Given the description of an element on the screen output the (x, y) to click on. 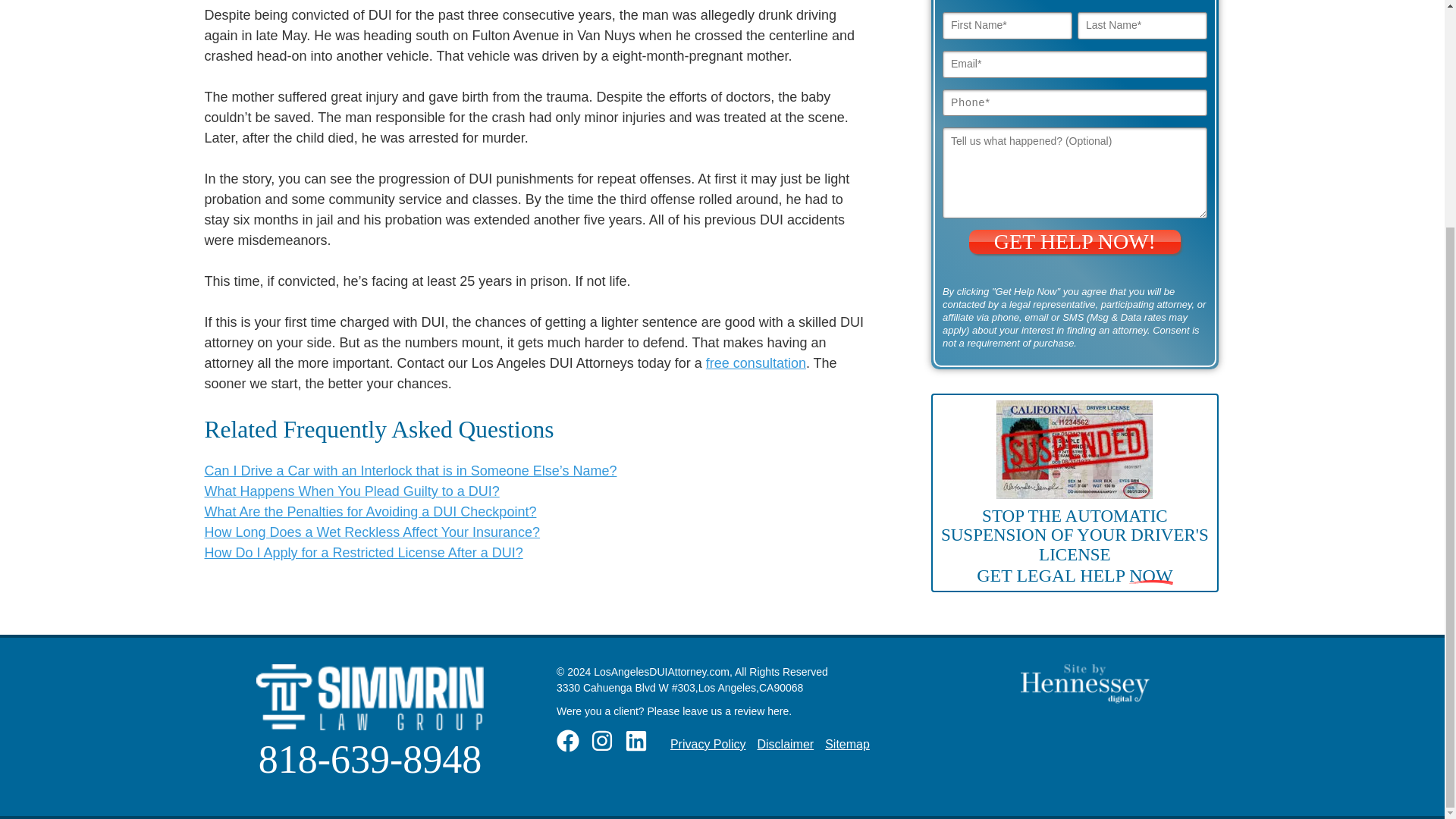
Get Help Now! (1074, 241)
IMMEDIATE ATTORNEY RESPONSE (661, 356)
